Given the description of an element on the screen output the (x, y) to click on. 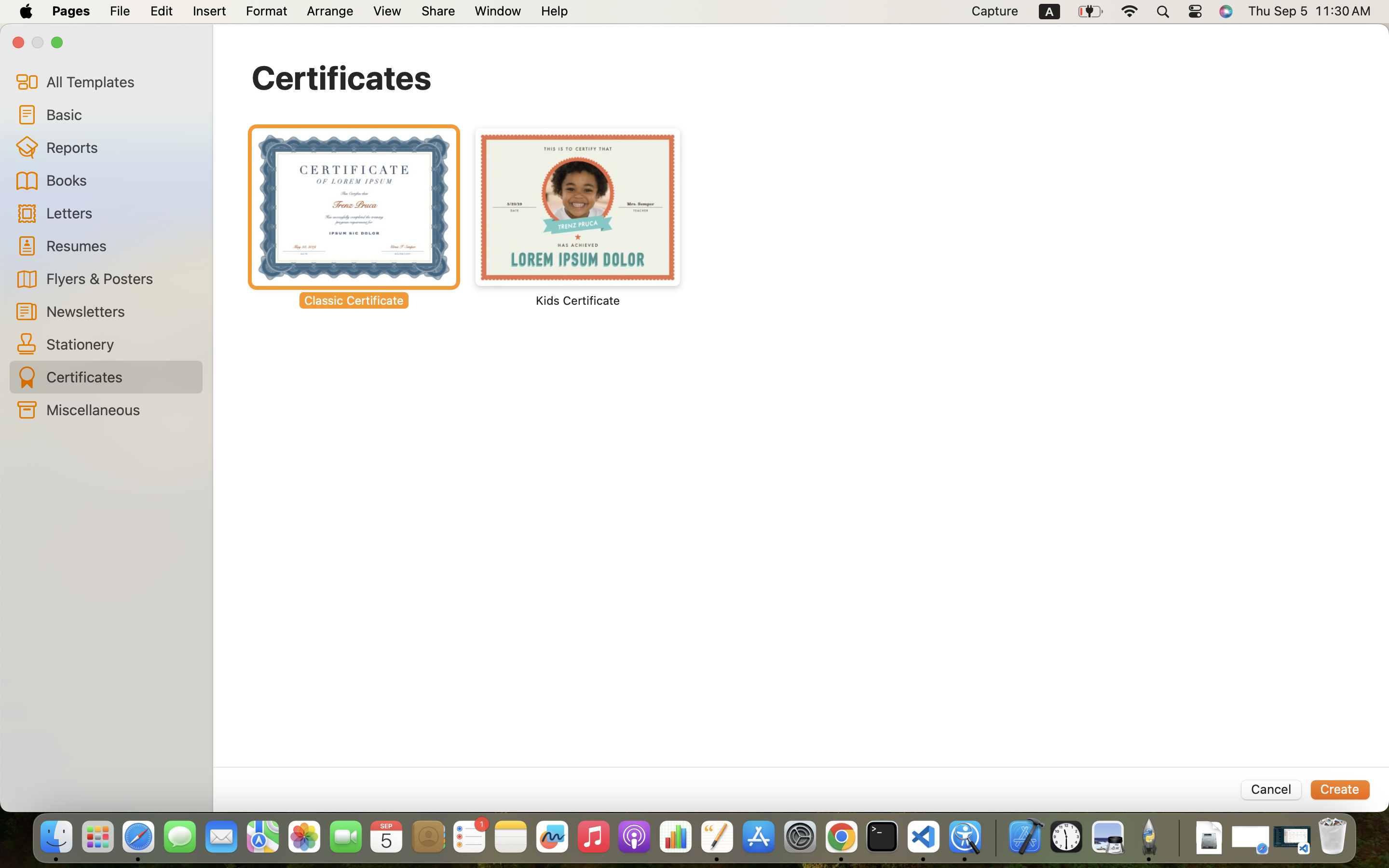
Resumes Element type: AXStaticText (120, 245)
All Templates Element type: AXStaticText (120, 81)
Basic Element type: AXStaticText (120, 114)
‎⁨Classic Certificate⁩ Element type: AXButton (353, 217)
Flyers & Posters Element type: AXStaticText (120, 278)
